Given the description of an element on the screen output the (x, y) to click on. 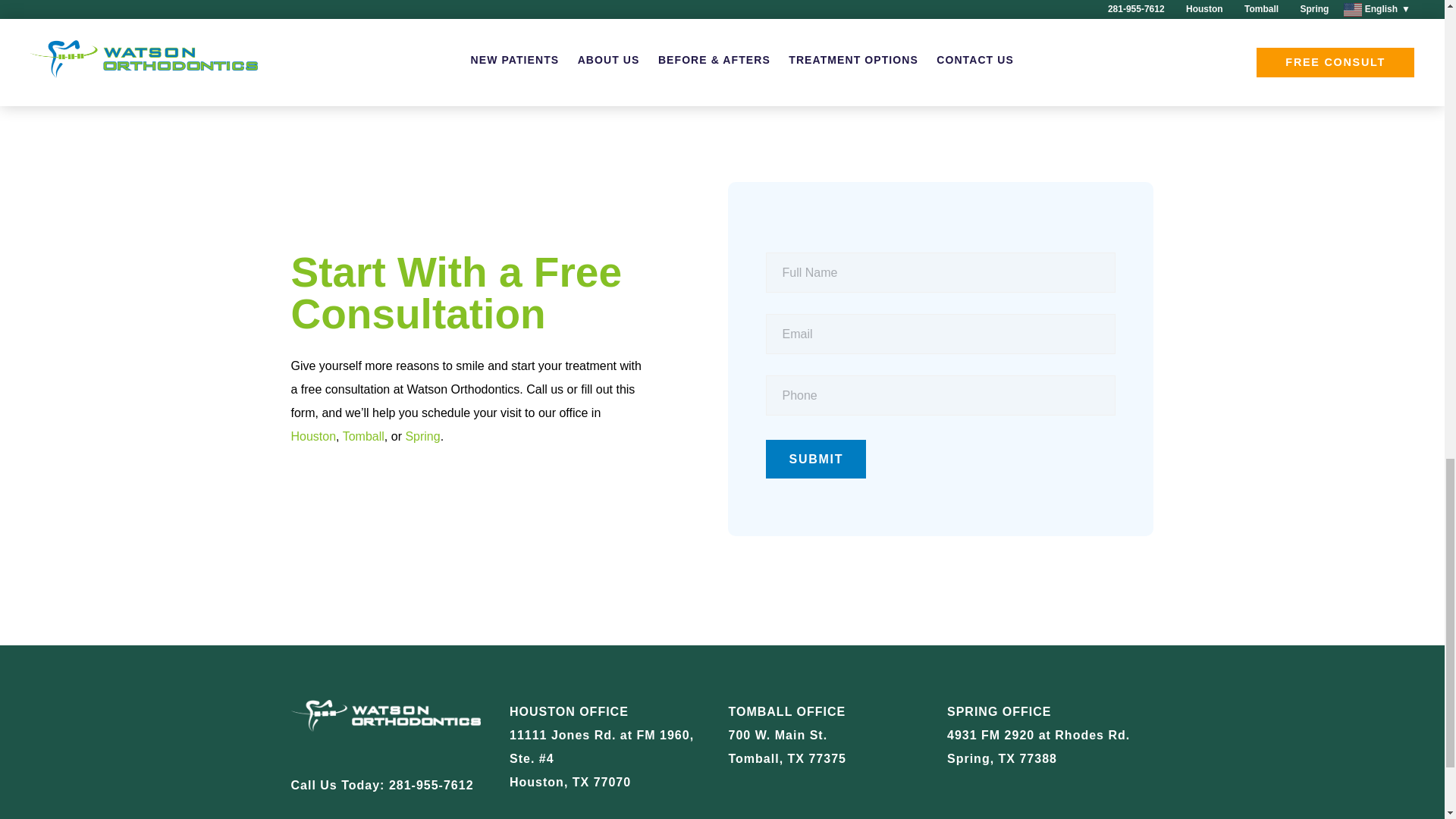
Logo (394, 719)
Submit (815, 458)
